Given the description of an element on the screen output the (x, y) to click on. 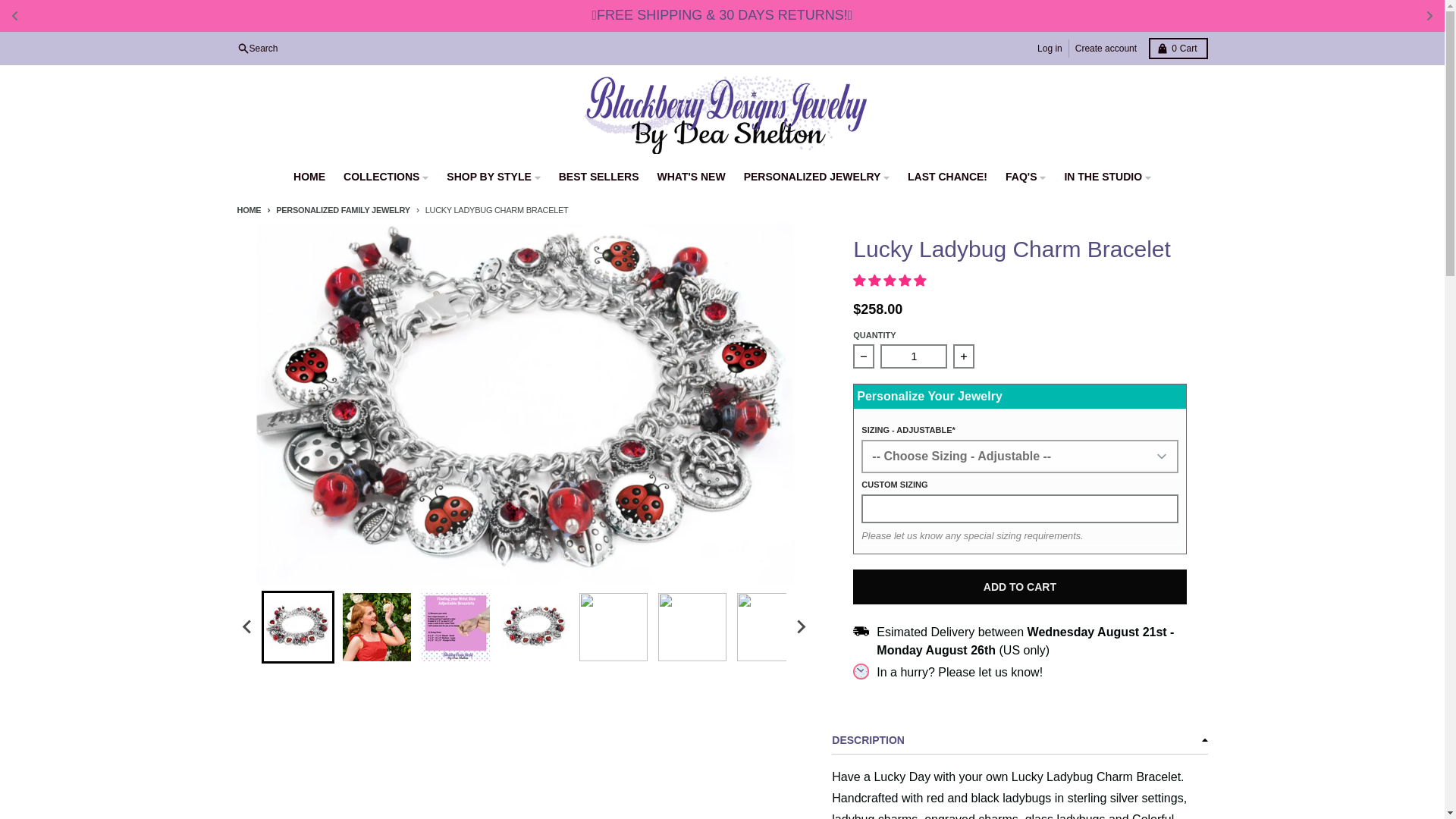
Create account (1105, 48)
Search (256, 48)
Back to the homepage (1177, 47)
Log in (247, 209)
1 (1049, 48)
